Given the description of an element on the screen output the (x, y) to click on. 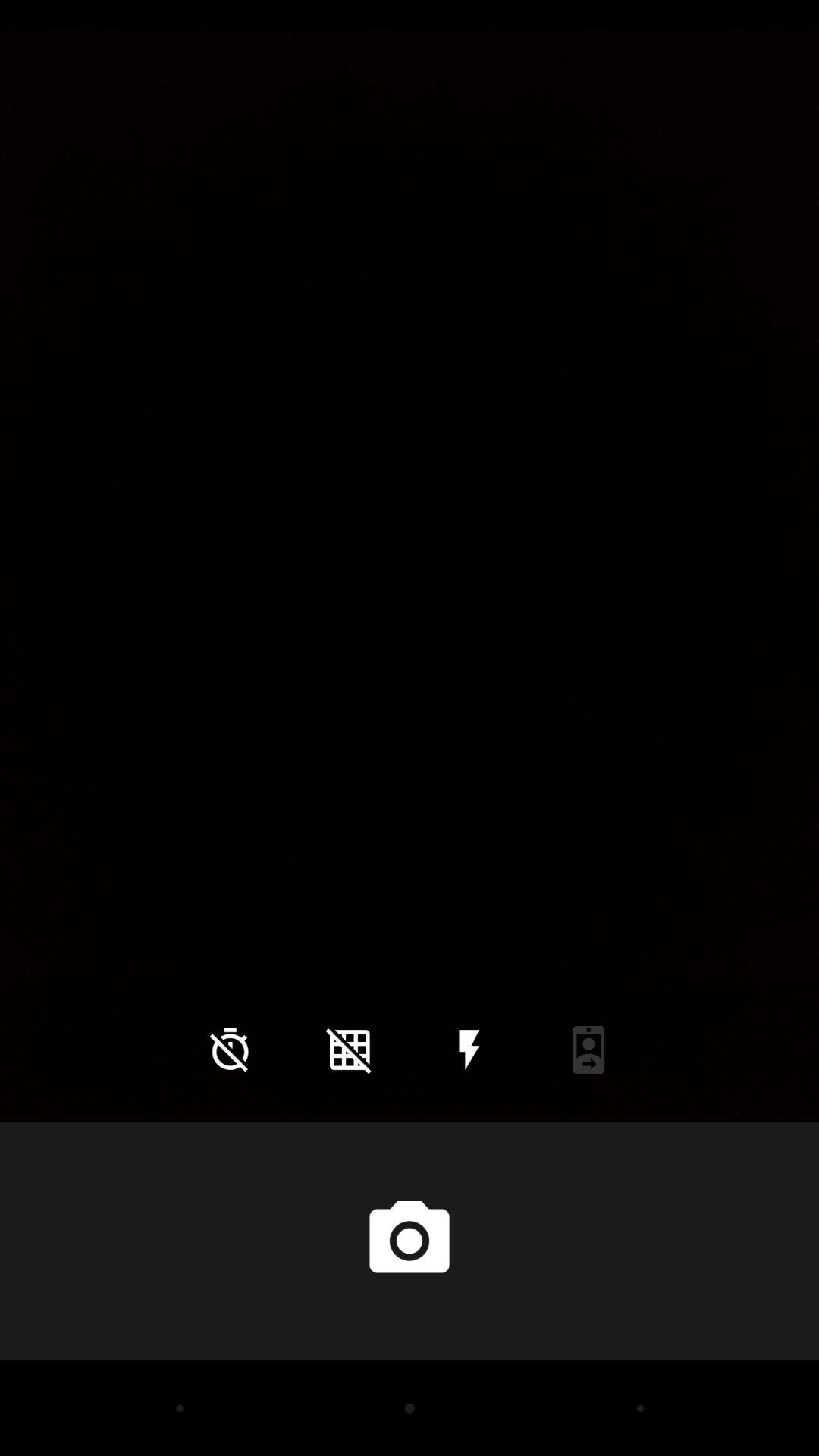
turn on the icon at the bottom left corner (230, 1049)
